Given the description of an element on the screen output the (x, y) to click on. 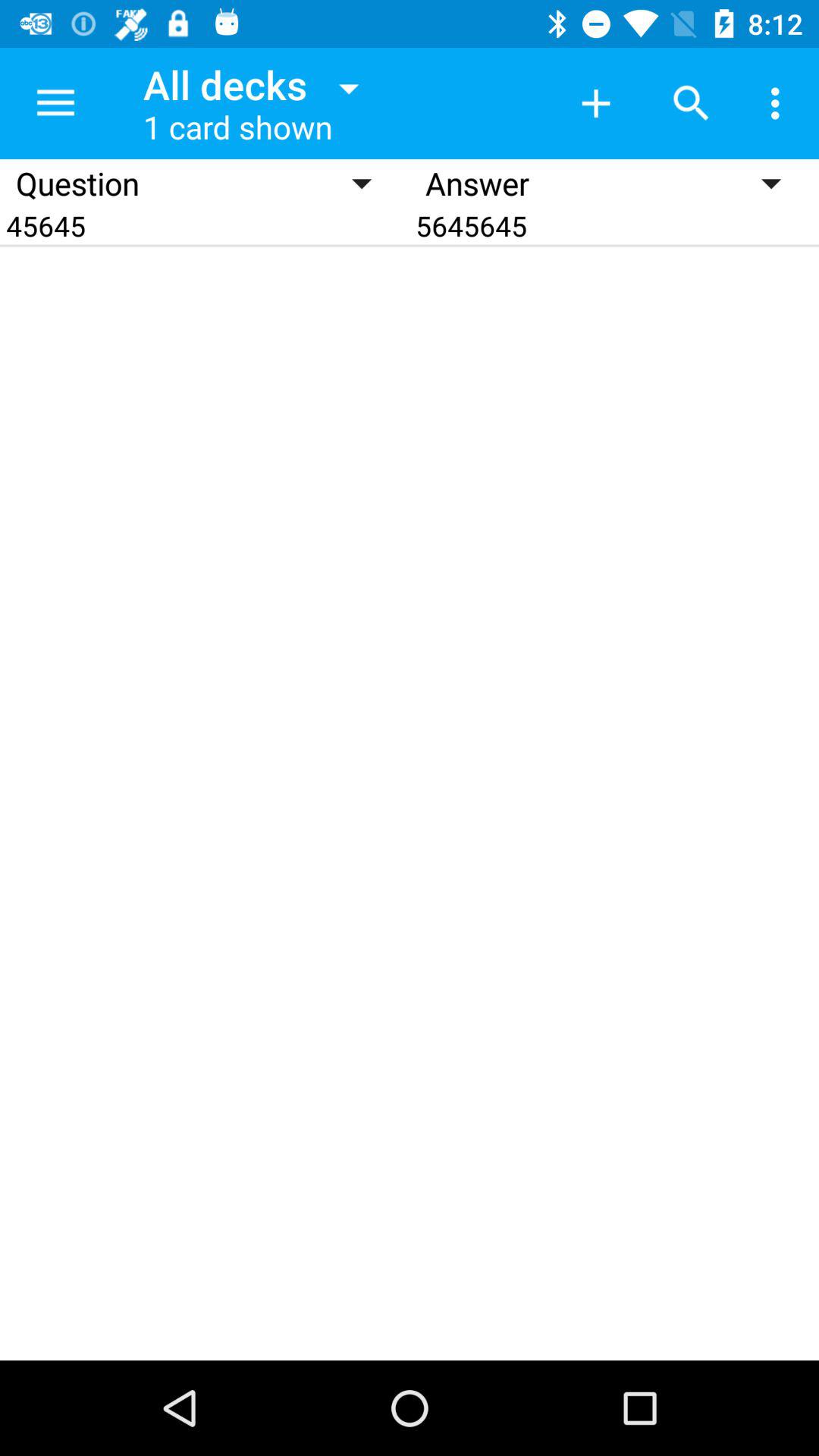
swipe until the 5645645 item (614, 225)
